Given the description of an element on the screen output the (x, y) to click on. 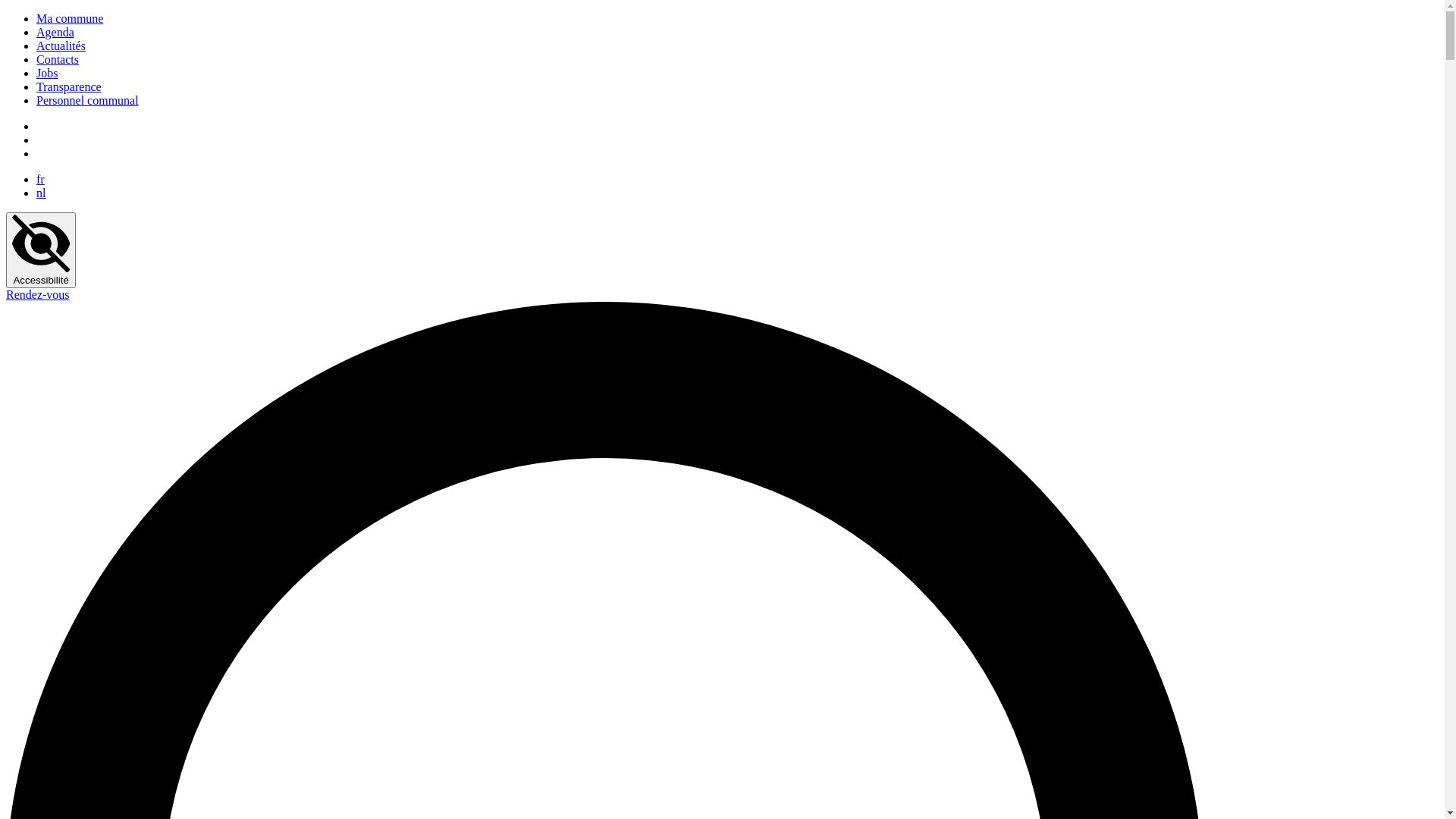
Agenda Element type: text (55, 31)
Jobs Element type: text (46, 72)
Rendez-vous Element type: text (37, 294)
Personnel communal Element type: text (87, 100)
fr Element type: text (40, 178)
nl Element type: text (40, 192)
Contacts Element type: text (57, 59)
Ma commune Element type: text (69, 18)
Transparence Element type: text (68, 86)
